Given the description of an element on the screen output the (x, y) to click on. 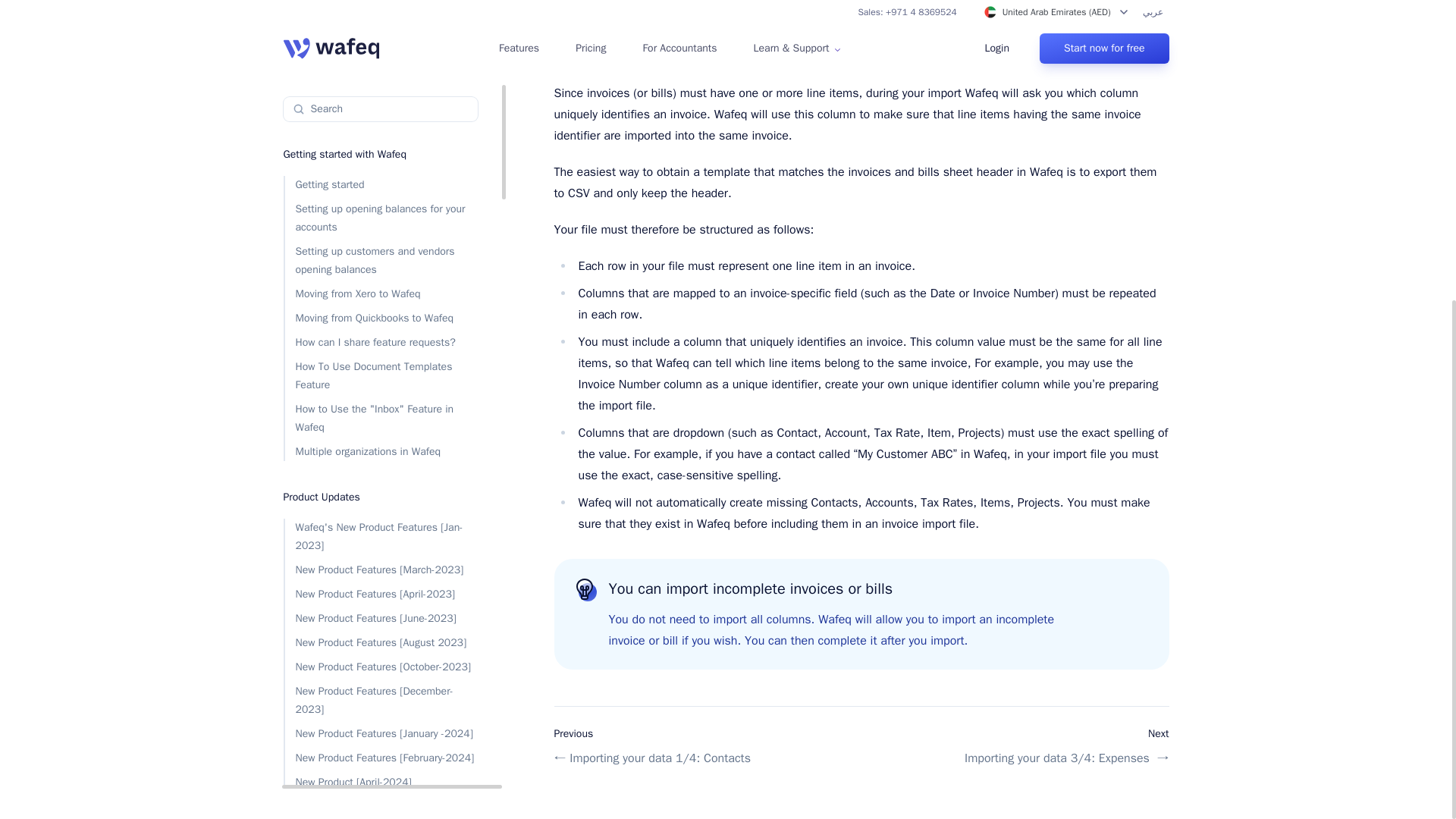
Creating and sending an invoice (381, 384)
How to send invoice via WhatsApp? (381, 517)
Adding a discount on an invoice total (381, 542)
Creating a recurring or scheduled invoice (381, 417)
Recording sales from a Point of Sale with Cash Invoices (381, 460)
Sending a payment receipt to your customer (381, 575)
Reconciling payments with bank fees (381, 493)
